Given the description of an element on the screen output the (x, y) to click on. 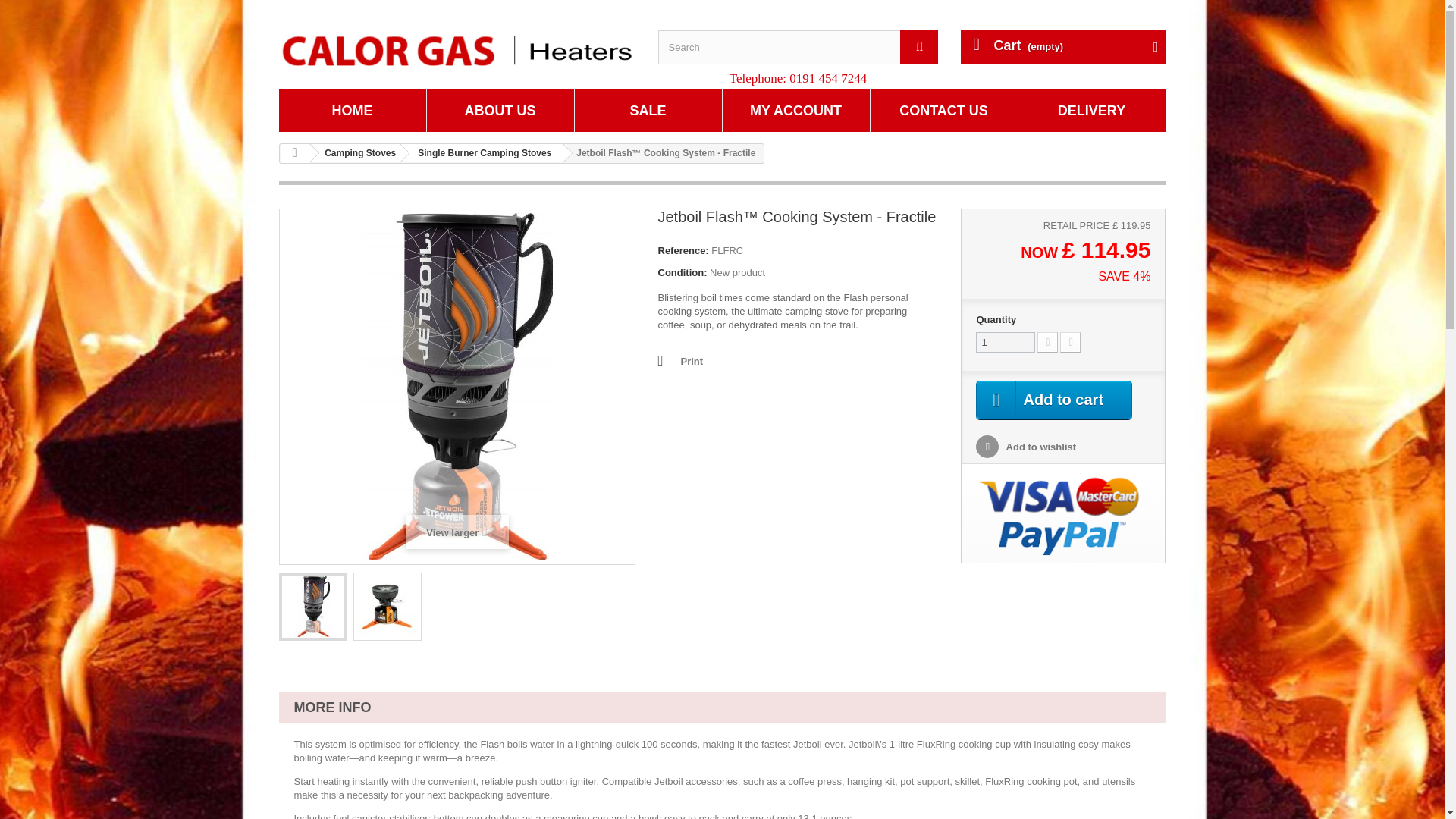
Delivery (1090, 110)
Camping Stoves (357, 153)
Contact Us (943, 110)
SALE (648, 110)
HOME (352, 110)
Calor Gas Heaters (456, 50)
Print (680, 361)
Home (352, 110)
Add to cart (1053, 400)
Camping Stoves (357, 153)
